Given the description of an element on the screen output the (x, y) to click on. 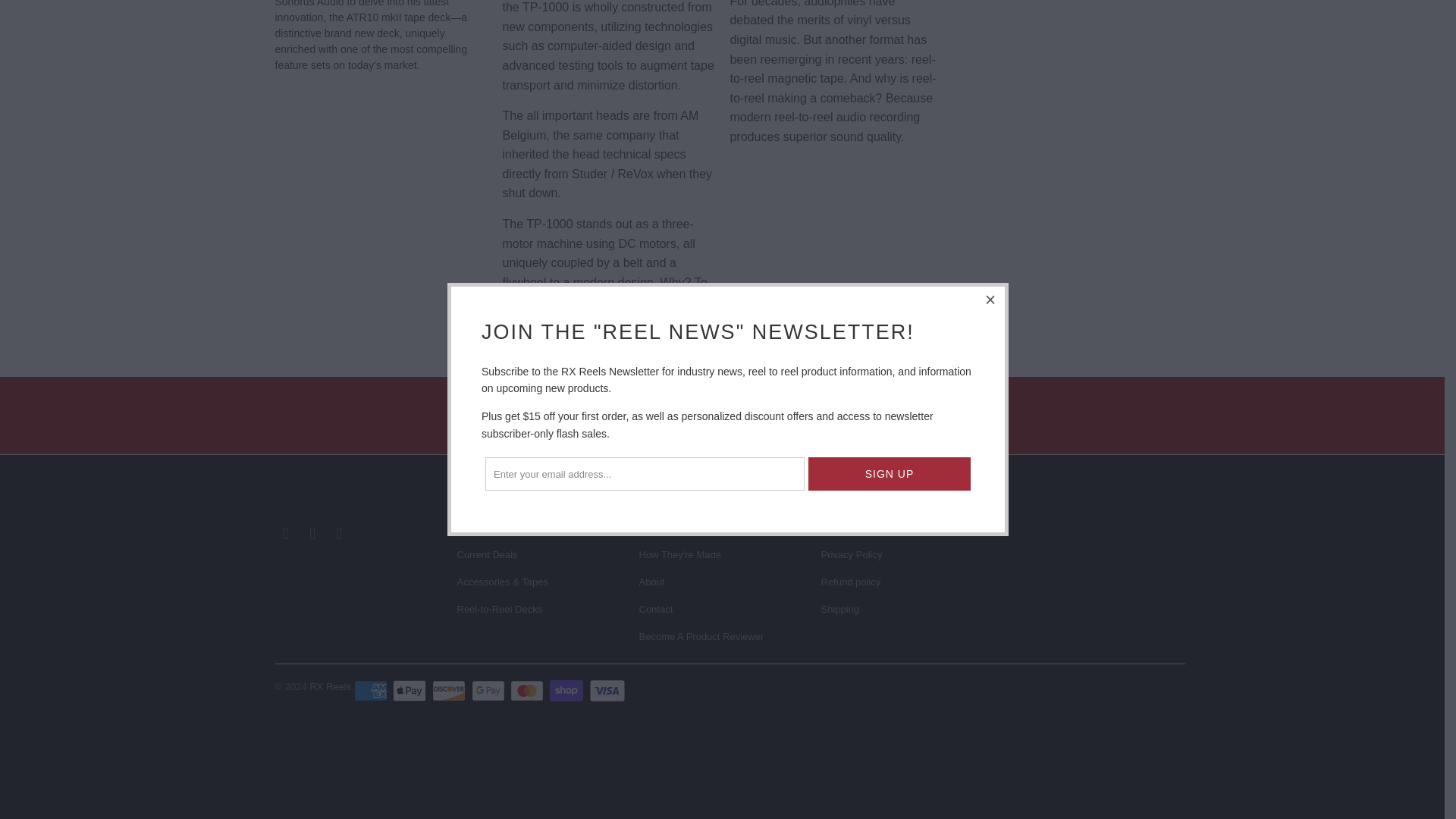
Google Pay (489, 690)
Apple Pay (411, 690)
American Express (371, 690)
Discover (450, 690)
Shop Pay (568, 690)
Visa (607, 690)
Mastercard (529, 690)
